Given the description of an element on the screen output the (x, y) to click on. 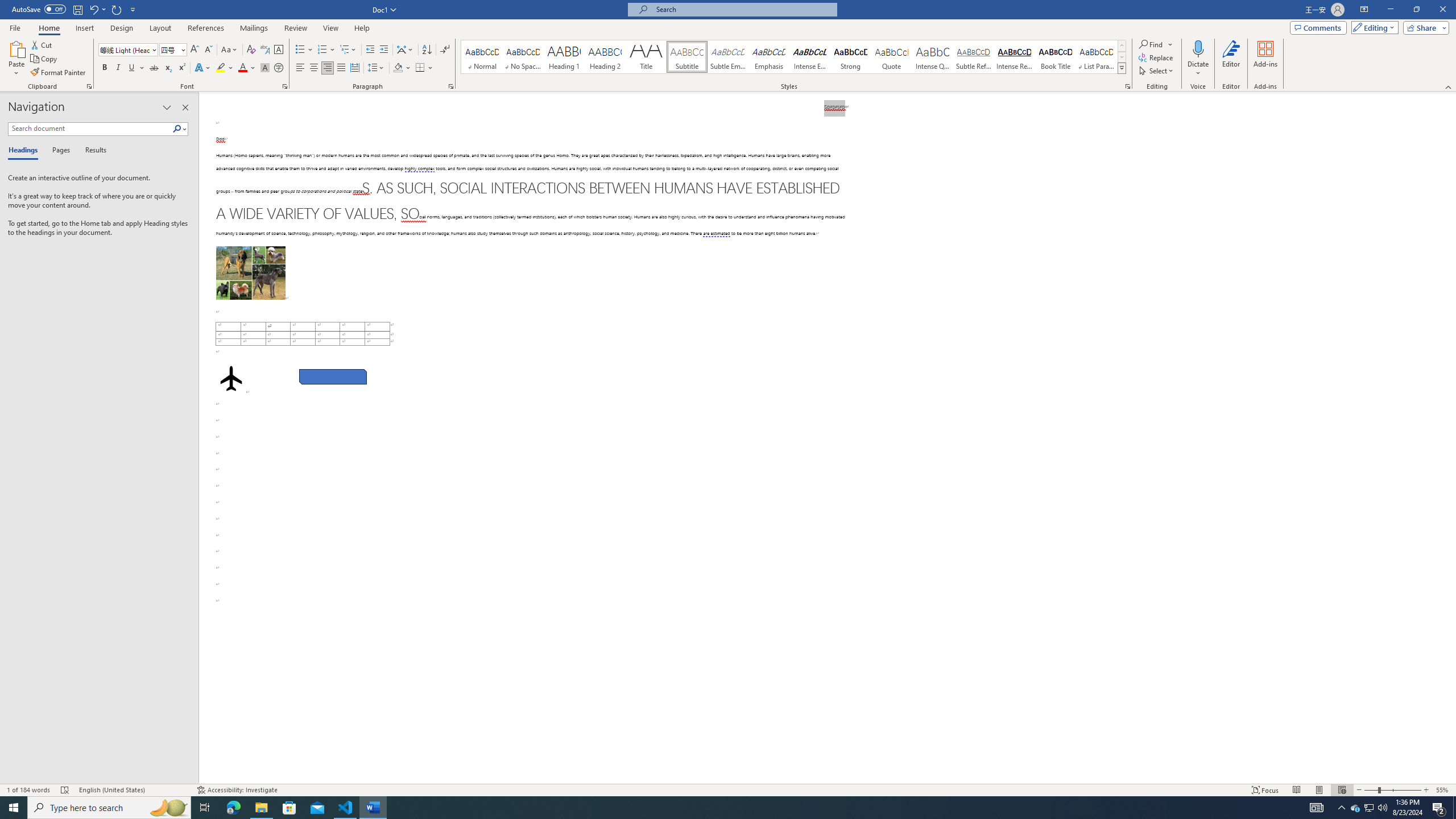
Sort... (426, 49)
Share (1423, 27)
Paragraph... (450, 85)
Zoom 55% (1443, 790)
Align Right (327, 67)
Read Mode (1296, 790)
Class: NetUIScrollBar (1450, 437)
Office Clipboard... (88, 85)
Numbering (326, 49)
Text Effects and Typography (202, 67)
Borders (424, 67)
Repeat Paragraph Alignment (117, 9)
File Tab (15, 27)
Font Color (246, 67)
